Given the description of an element on the screen output the (x, y) to click on. 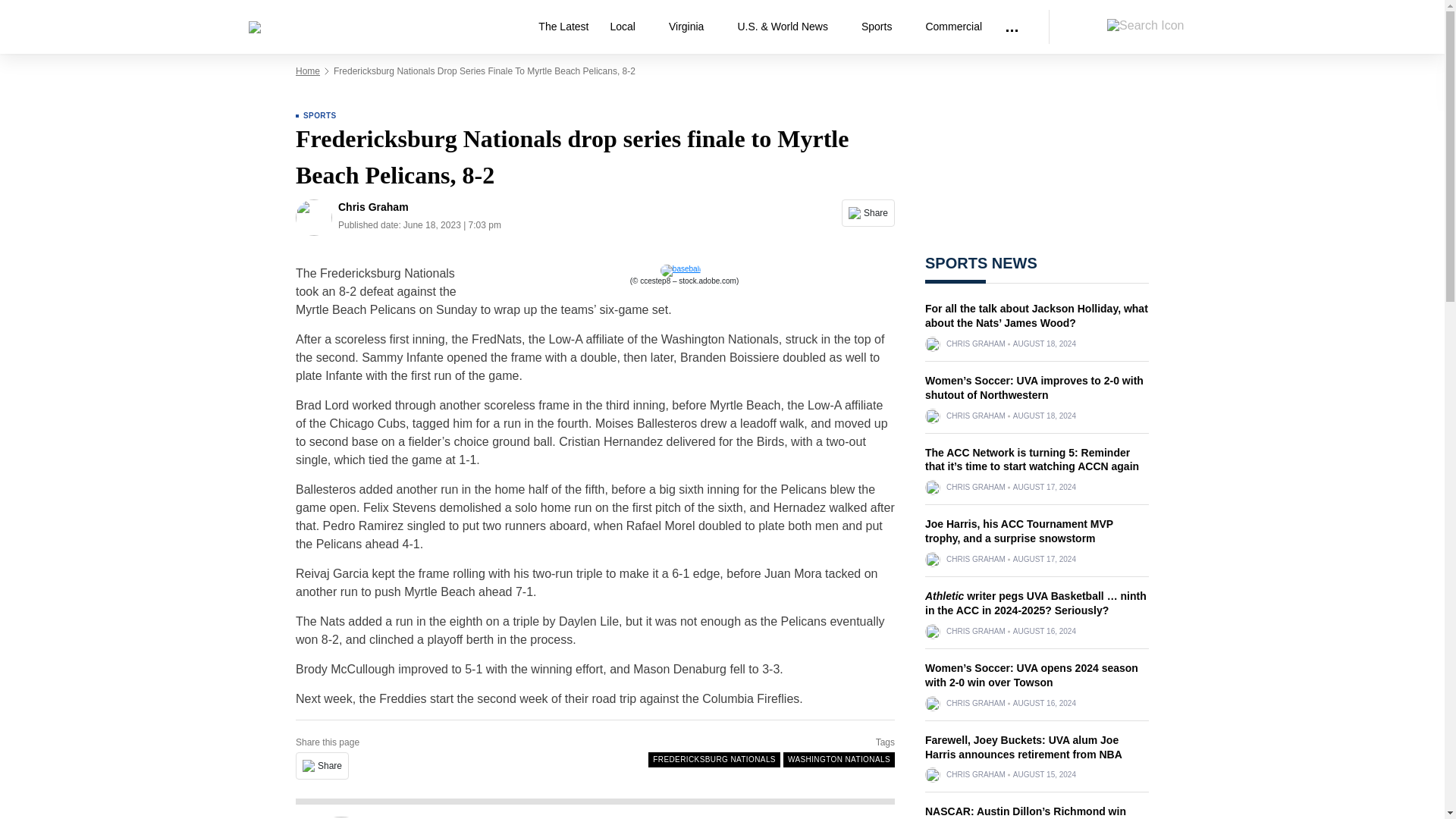
Virginia (692, 27)
The Latest (562, 27)
Commercial (953, 27)
Sports (882, 27)
Local (628, 27)
